Given the description of an element on the screen output the (x, y) to click on. 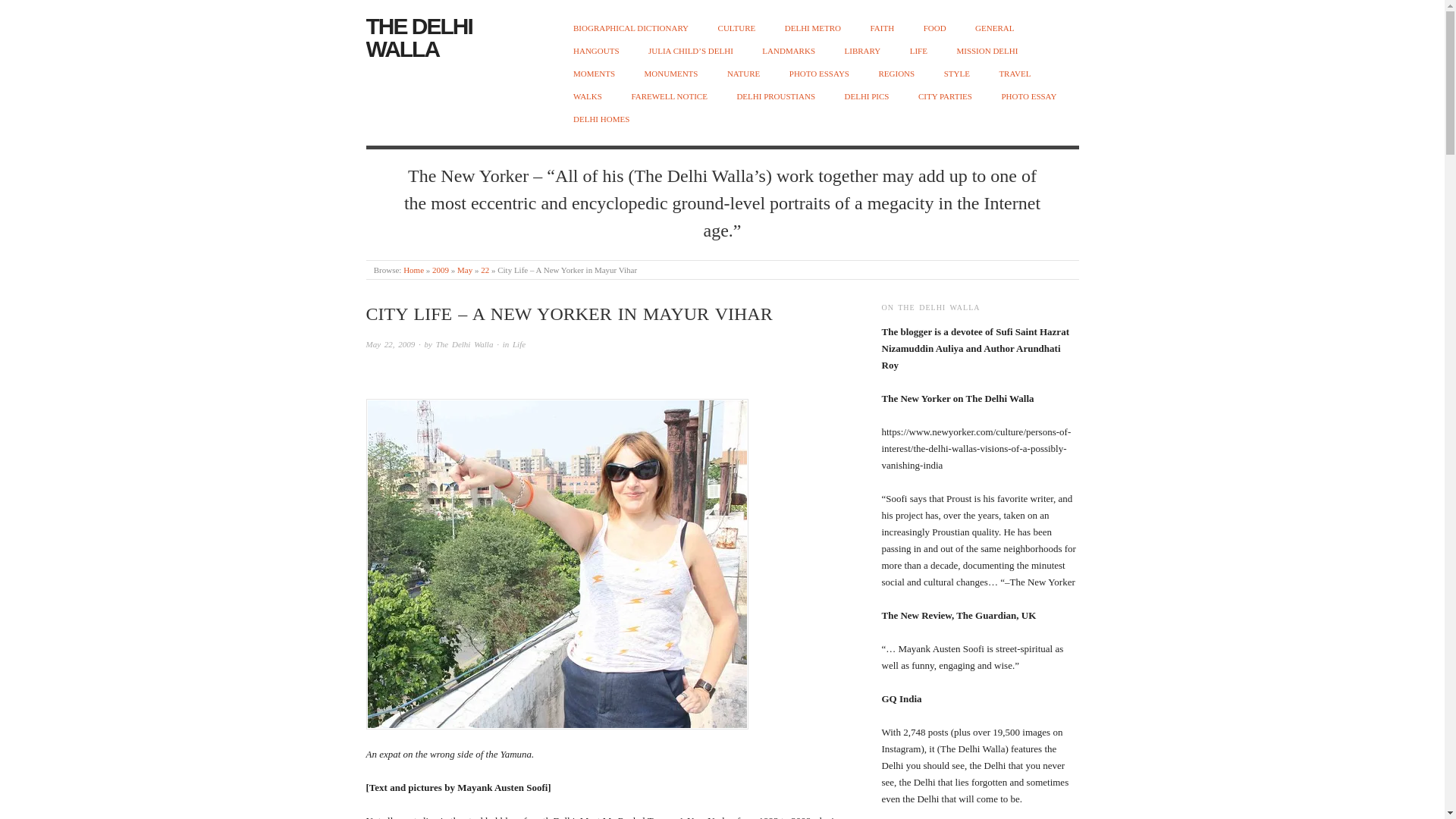
22 (484, 269)
PHOTO ESSAY (1029, 96)
FOOD (934, 28)
CITY PARTIES (945, 96)
Posts by The Delhi Walla (464, 343)
2009 (440, 269)
PHOTO ESSAYS (818, 73)
May 2009 (464, 269)
DELHI PROUSTIANS (775, 96)
May (464, 269)
MOMENTS (593, 73)
REGIONS (895, 73)
DELHI PICS (866, 96)
CULTURE (736, 28)
BIOGRAPHICAL DICTIONARY (630, 28)
